Given the description of an element on the screen output the (x, y) to click on. 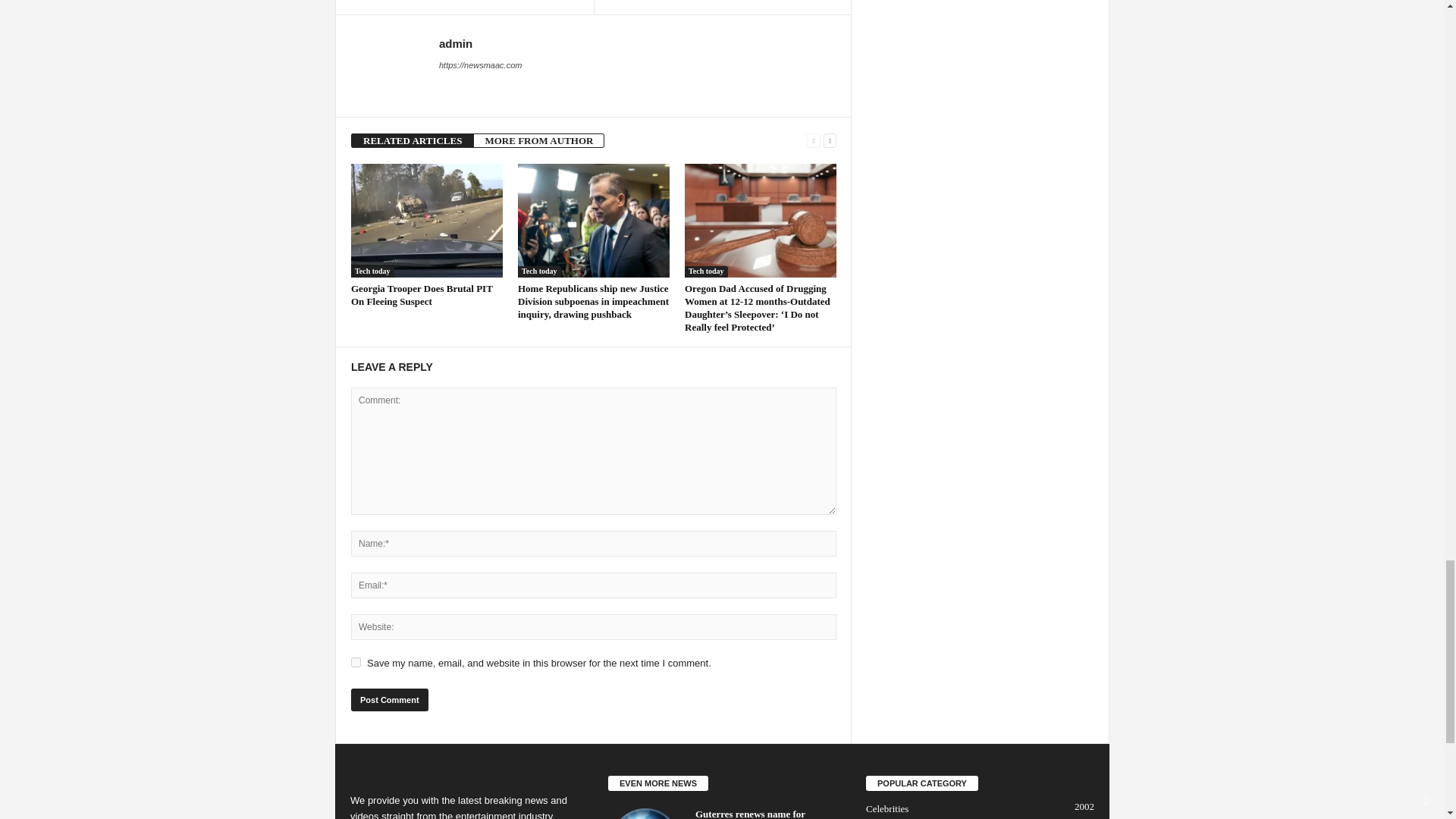
Post Comment (389, 699)
yes (355, 662)
